Given the description of an element on the screen output the (x, y) to click on. 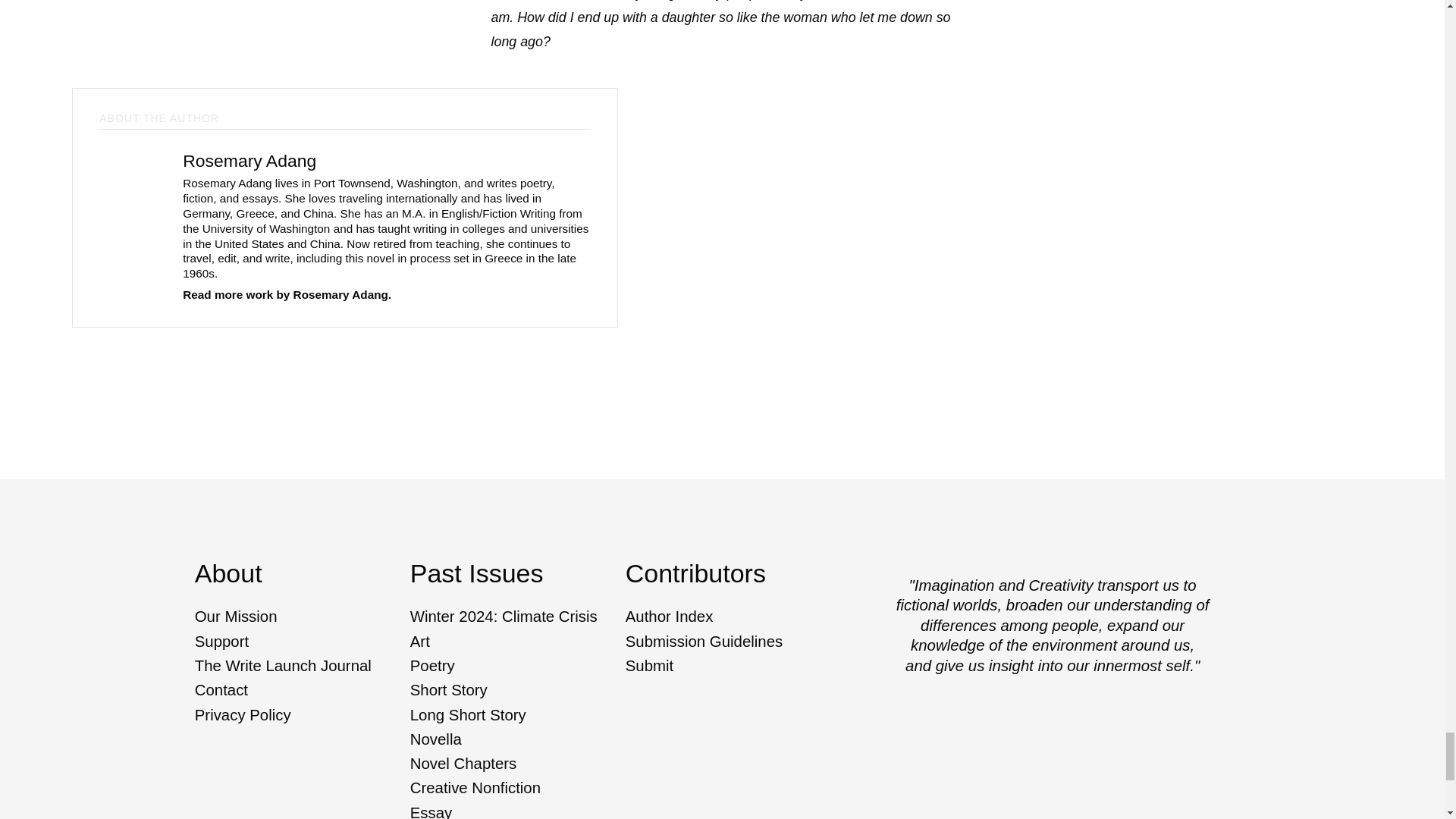
Contact (299, 690)
Support (299, 641)
Rosemary Adang (249, 160)
Privacy Policy (299, 714)
The Write Launch Journal (299, 665)
Art (515, 641)
Read more work by Rosemary Adang. (287, 294)
Poetry (515, 665)
Winter 2024: Climate Crisis (515, 617)
Our Mission (299, 617)
